Given the description of an element on the screen output the (x, y) to click on. 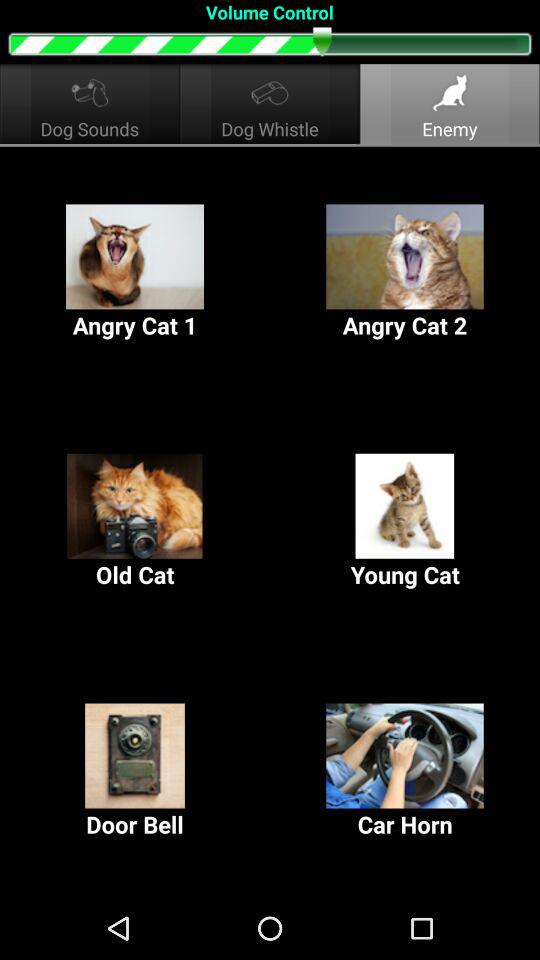
launch the button below angry cat 1 button (135, 521)
